Given the description of an element on the screen output the (x, y) to click on. 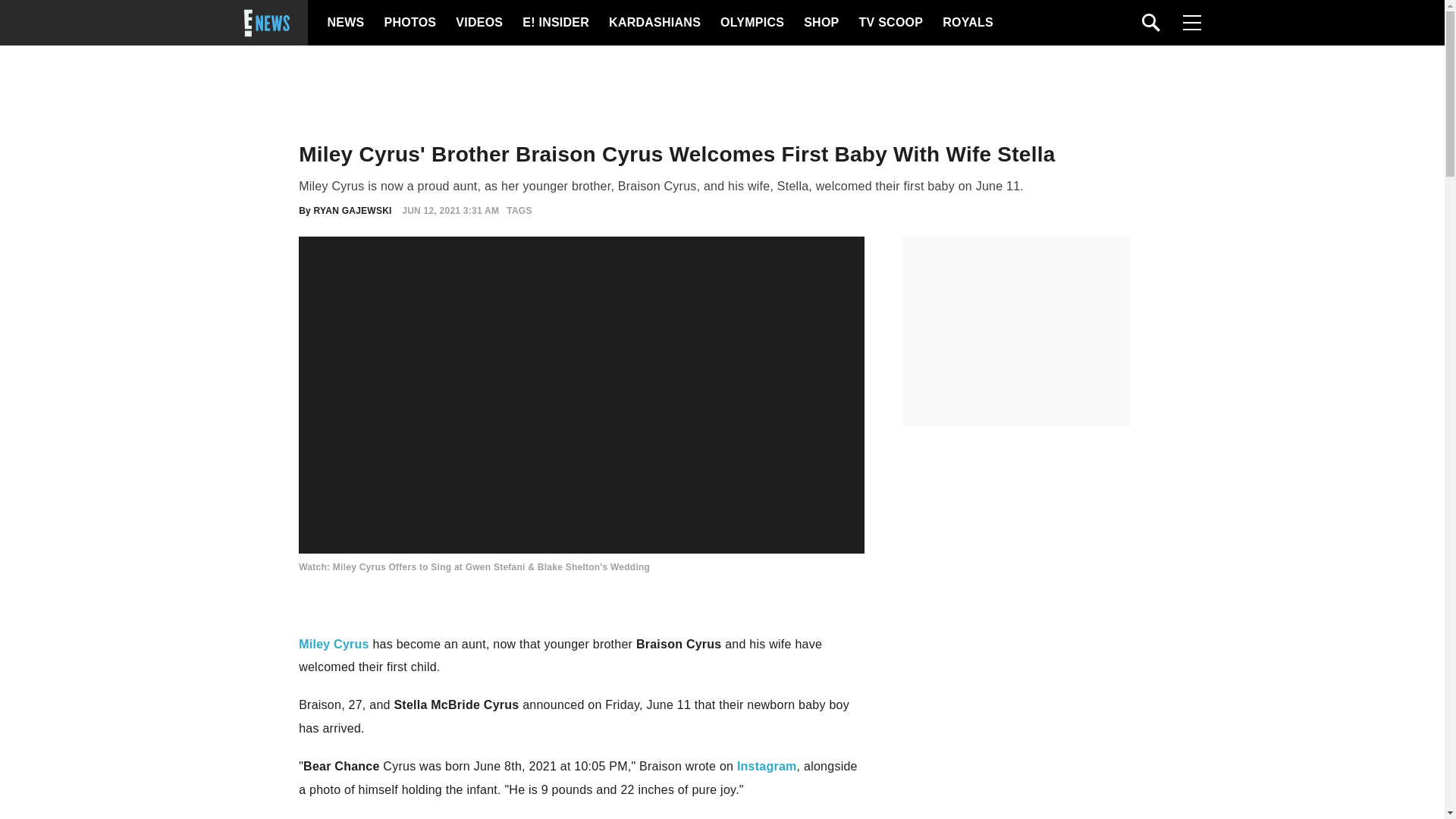
RYAN GAJEWSKI (352, 210)
OLYMPICS (751, 22)
ROYALS (966, 22)
E! INSIDER (555, 22)
VIDEOS (478, 22)
NEWS (345, 22)
Instagram (766, 766)
Miley Cyrus (333, 644)
PHOTOS (408, 22)
SHOP (820, 22)
